Given the description of an element on the screen output the (x, y) to click on. 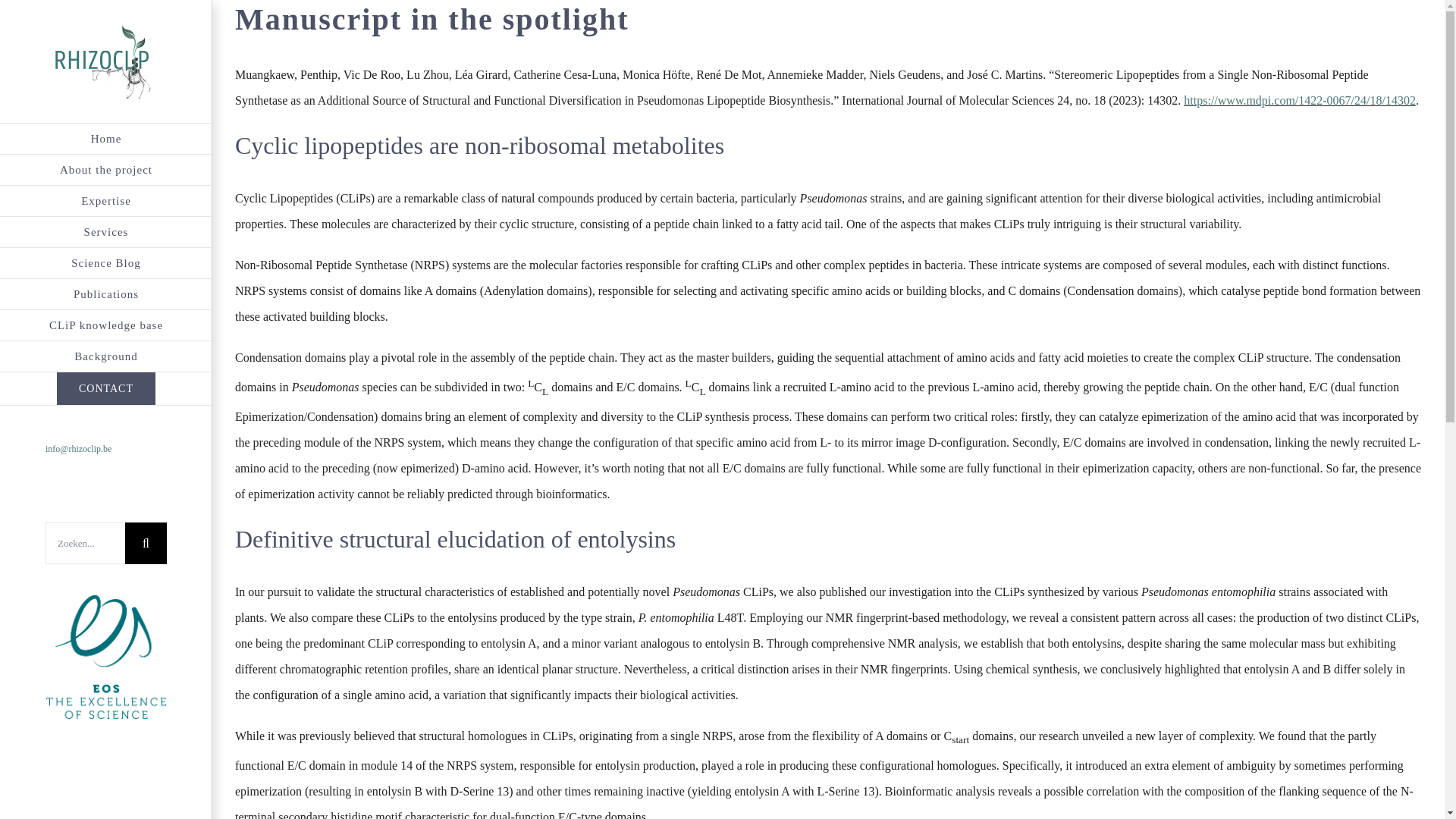
Publications (106, 294)
CONTACT (106, 388)
CLiP knowledge base (106, 325)
About the project (106, 169)
Science Blog (106, 263)
Expertise (106, 201)
Services (106, 232)
Home (106, 138)
Background (106, 356)
